Given the description of an element on the screen output the (x, y) to click on. 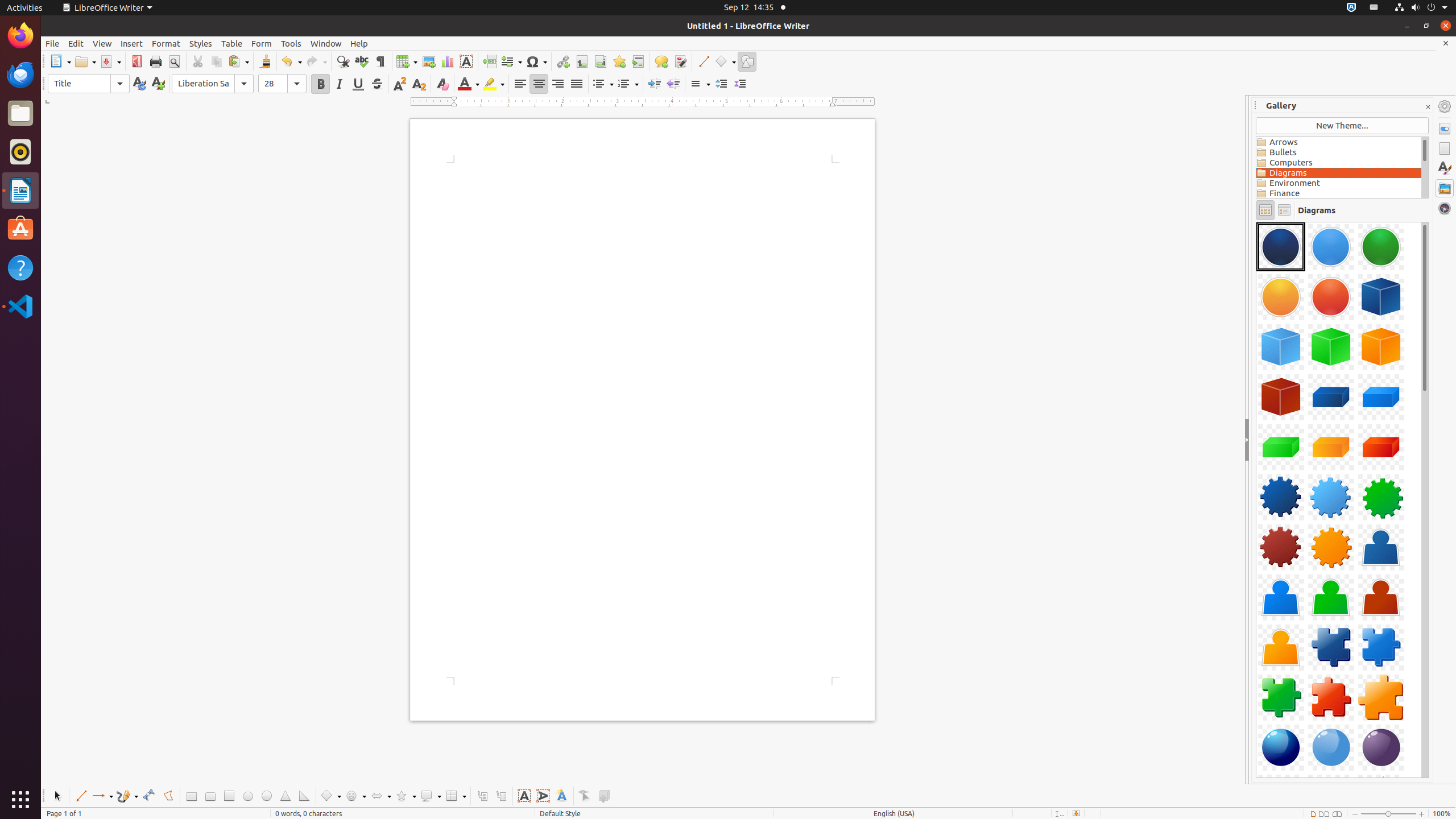
Tools Element type: menu (290, 43)
Curve Element type: push-button (148, 795)
Strikethrough Element type: toggle-button (376, 83)
Show Applications Element type: toggle-button (20, 799)
Component-Sphere01-DarkBlue Element type: list-item (1280, 746)
